Given the description of an element on the screen output the (x, y) to click on. 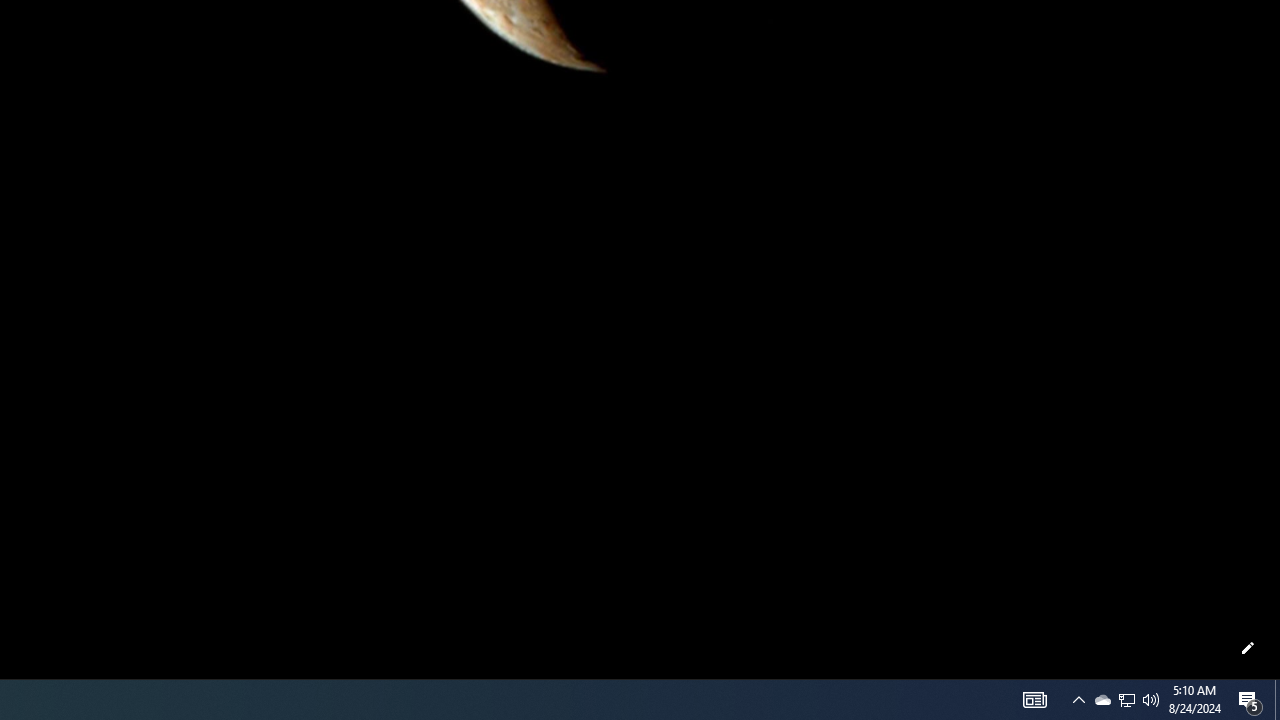
Customize this page (1247, 647)
